Given the description of an element on the screen output the (x, y) to click on. 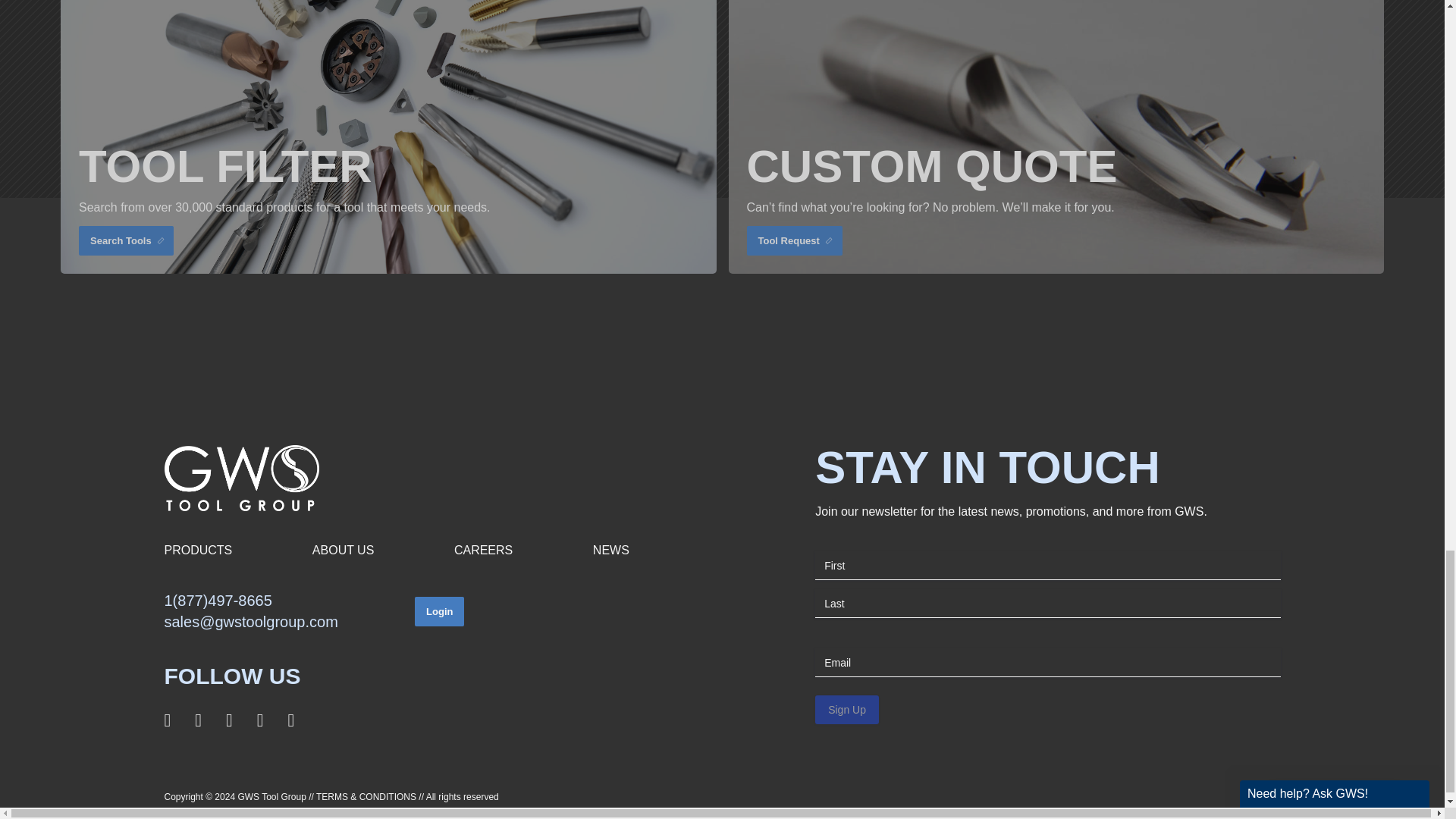
Email (1047, 662)
Sign Up (847, 709)
